Given the description of an element on the screen output the (x, y) to click on. 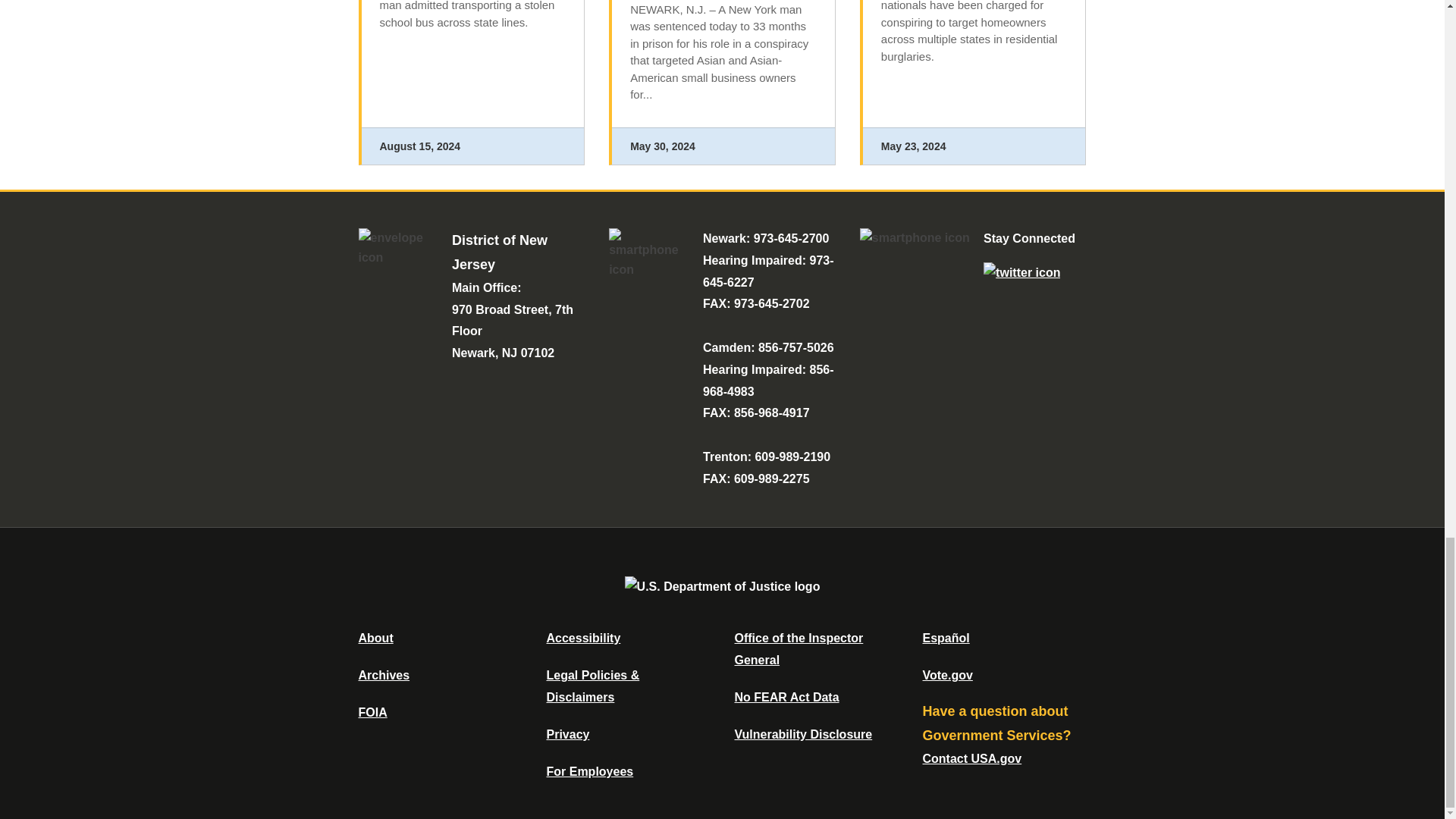
Data Posted Pursuant To The No Fear Act (785, 697)
About DOJ (375, 637)
Department of Justice Archive (383, 675)
Legal Policies and Disclaimers (592, 686)
For Employees (589, 771)
Accessibility Statement (583, 637)
Office of Information Policy (372, 712)
